Given the description of an element on the screen output the (x, y) to click on. 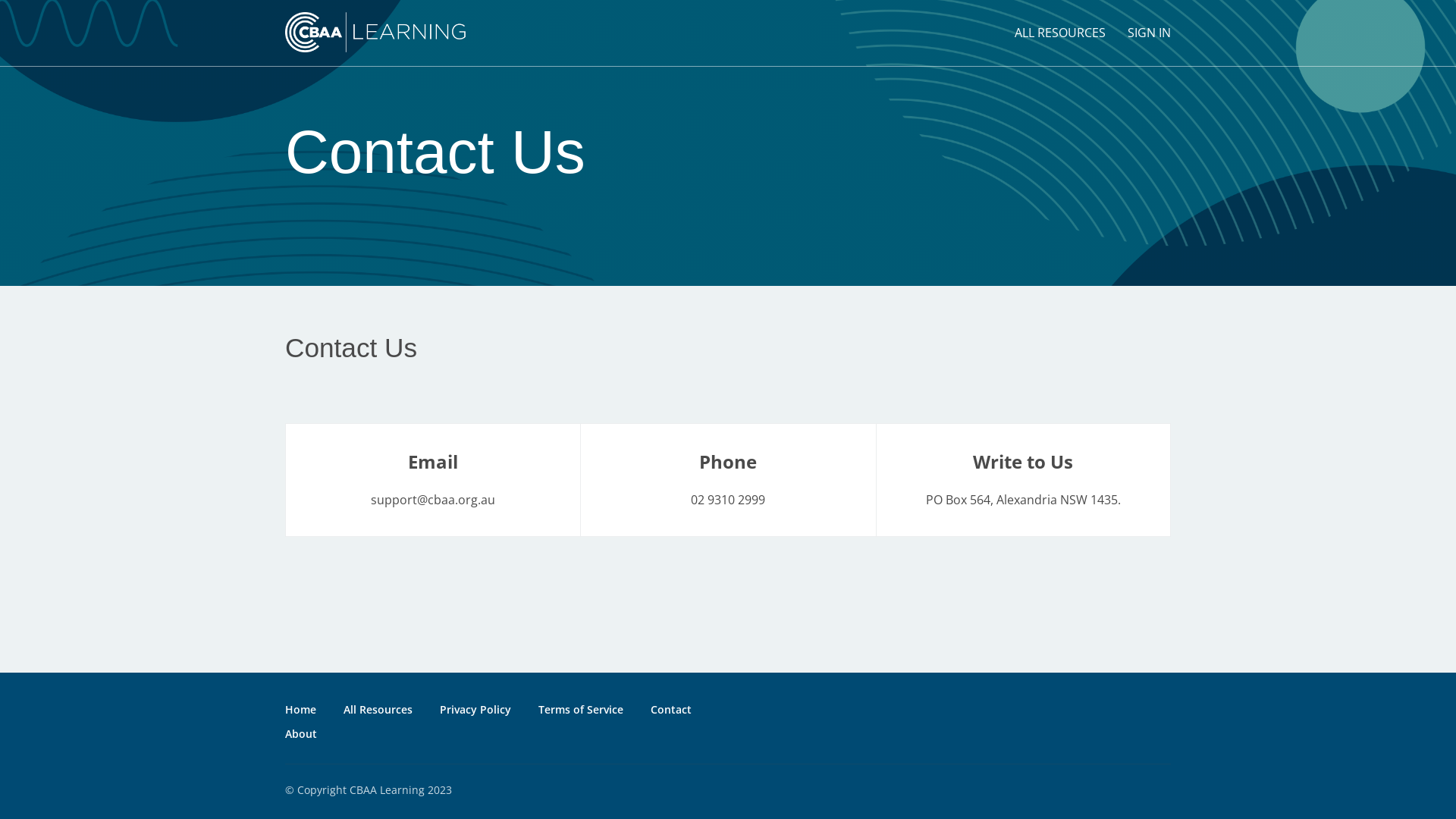
Home Element type: text (300, 709)
ALL RESOURCES Element type: text (1059, 32)
Contact Element type: text (670, 709)
SIGN IN Element type: text (1148, 32)
All Resources Element type: text (377, 709)
Privacy Policy Element type: text (475, 709)
About Element type: text (300, 733)
Terms of Service Element type: text (580, 709)
